Given the description of an element on the screen output the (x, y) to click on. 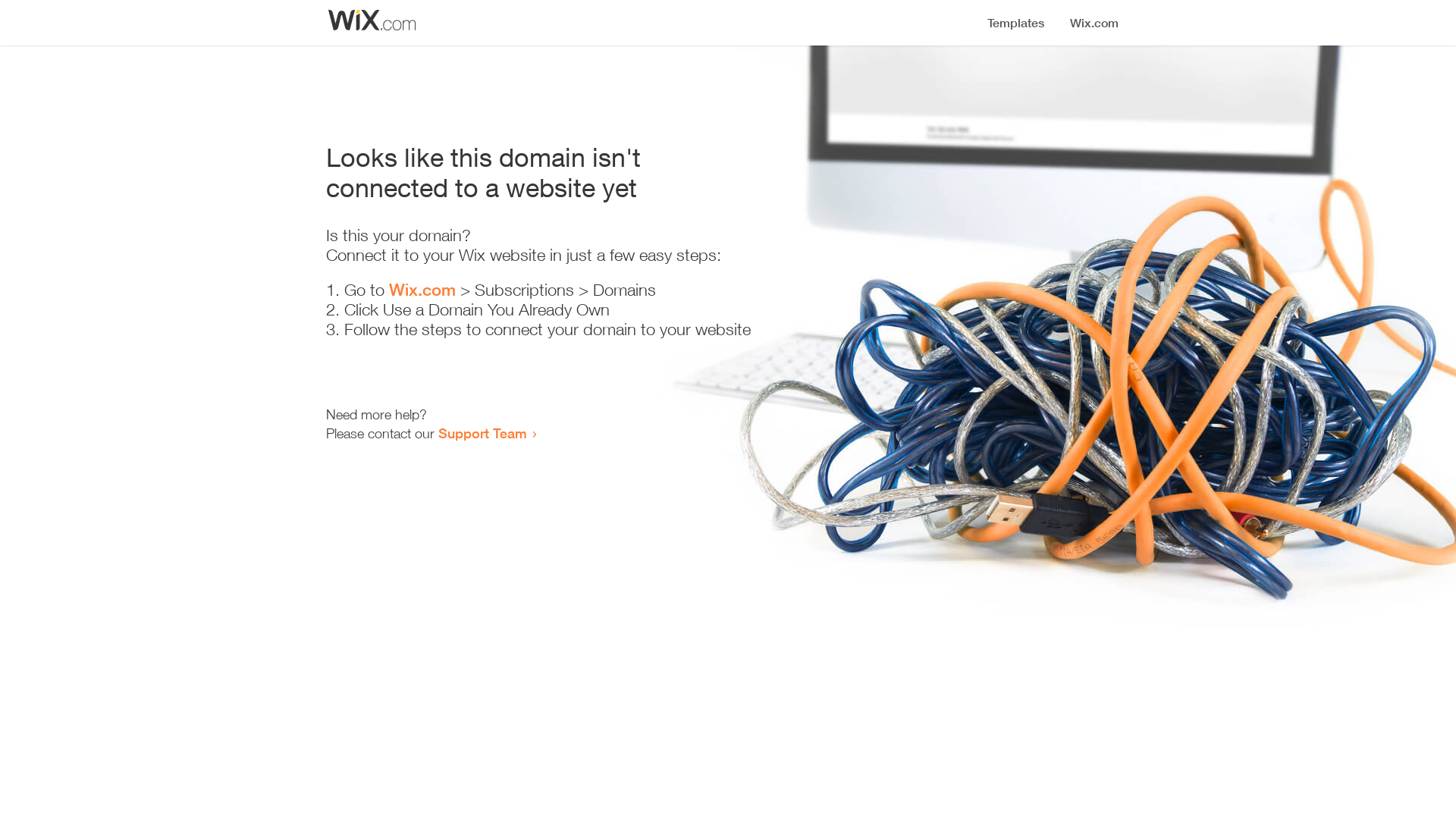
Wix.com Element type: text (422, 289)
Support Team Element type: text (482, 432)
